Given the description of an element on the screen output the (x, y) to click on. 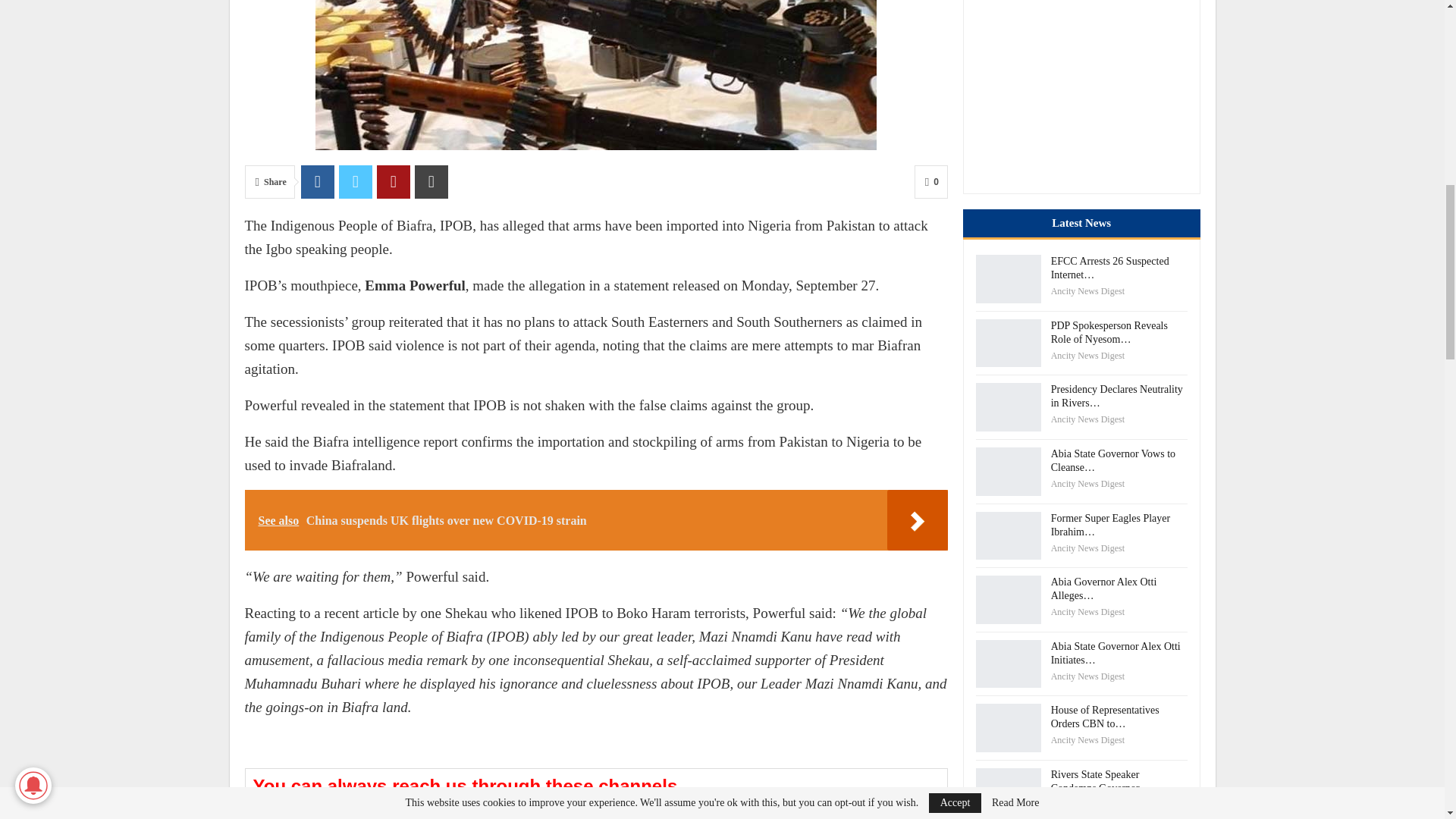
0 (930, 182)
See also  China suspends UK flights over new COVID-19 strain (595, 519)
